Given the description of an element on the screen output the (x, y) to click on. 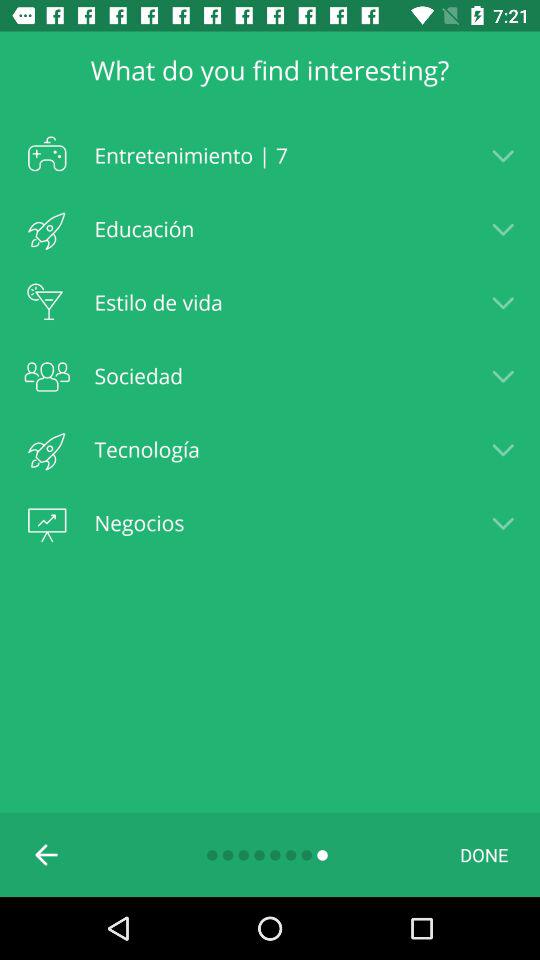
tap icon at the bottom right corner (484, 854)
